Given the description of an element on the screen output the (x, y) to click on. 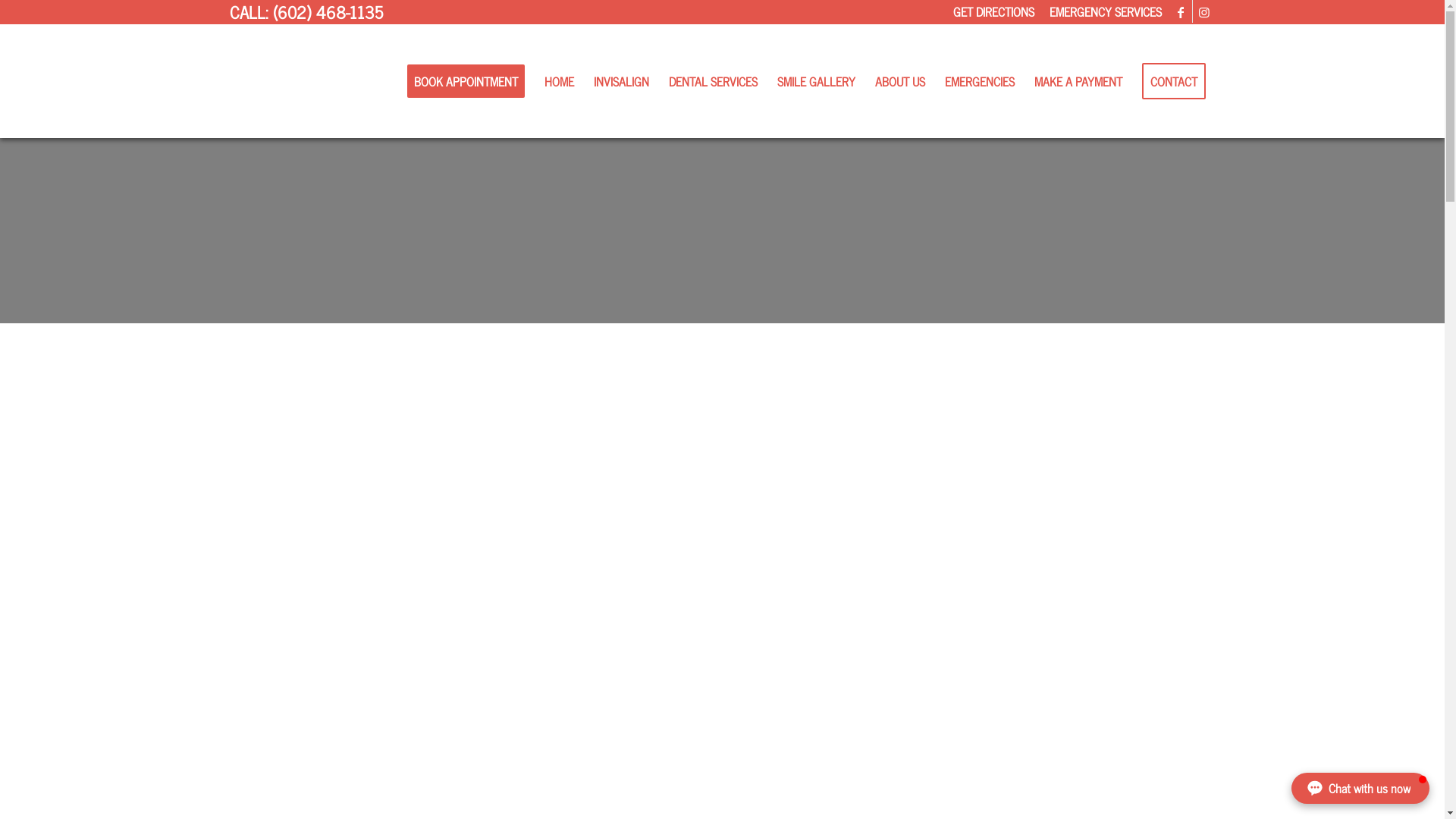
Chat with us now Element type: text (1360, 787)
ABOUT US Element type: text (899, 81)
MAKE A PAYMENT Element type: text (1077, 81)
INVISALIGN Element type: text (620, 81)
CONTACT Element type: text (1172, 81)
SMILE GALLERY Element type: text (816, 81)
Instagram Element type: hover (1203, 11)
BOOK APPOINTMENT Element type: text (465, 81)
Facebook Element type: hover (1180, 11)
EMERGENCIES Element type: text (978, 81)
Submit Element type: text (805, 773)
HOME Element type: text (558, 81)
DENTAL SERVICES Element type: text (712, 81)
